Given the description of an element on the screen output the (x, y) to click on. 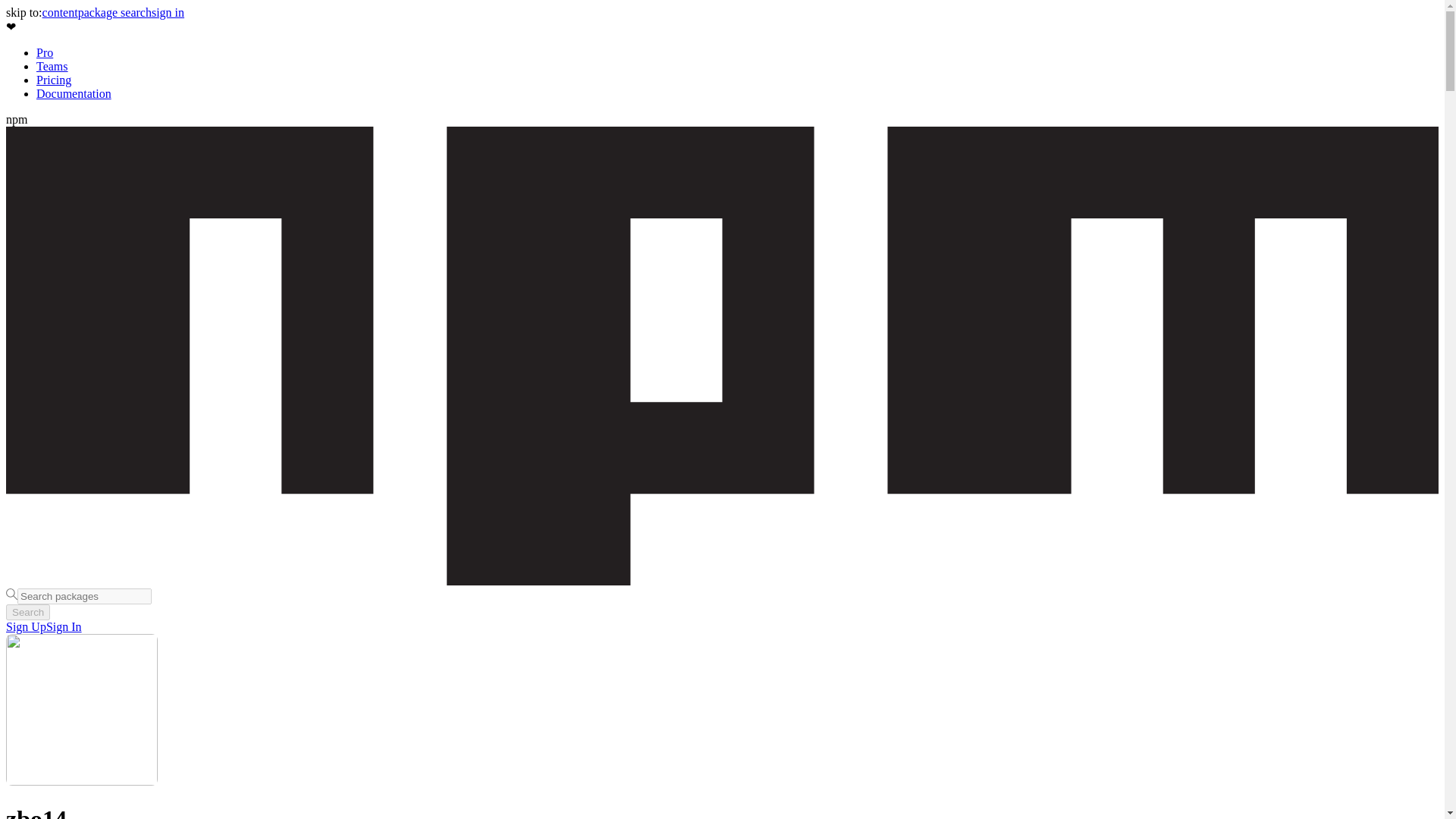
sign in (167, 11)
Sign In (63, 626)
Sign Up (25, 626)
content (60, 11)
Search (27, 611)
package search (114, 11)
Pricing (53, 79)
Teams (52, 65)
Documentation (74, 92)
Pro (44, 51)
